Given the description of an element on the screen output the (x, y) to click on. 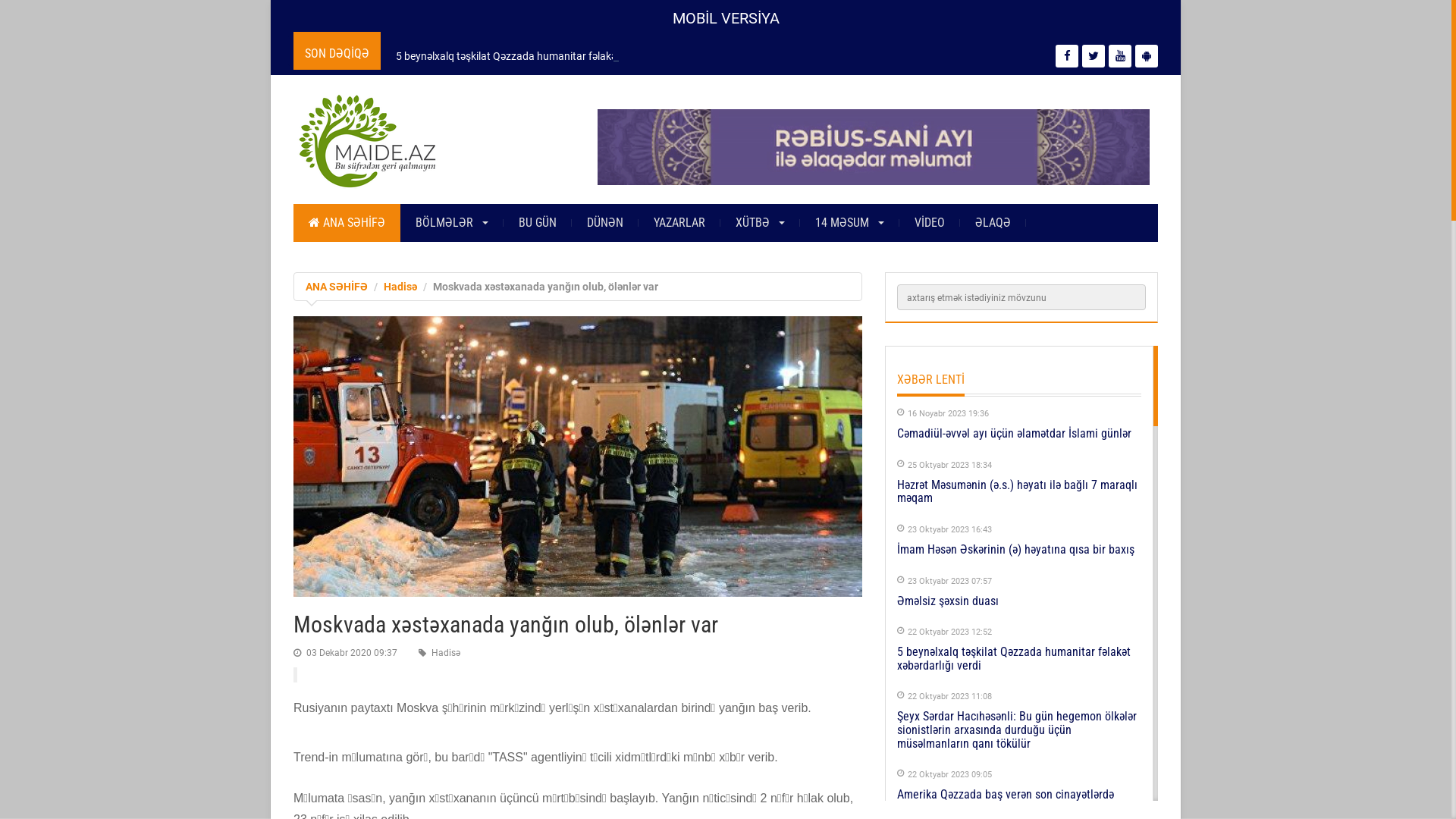
Maide.az Element type: hover (429, 141)
YAZARLAR Element type: text (679, 222)
